Given the description of an element on the screen output the (x, y) to click on. 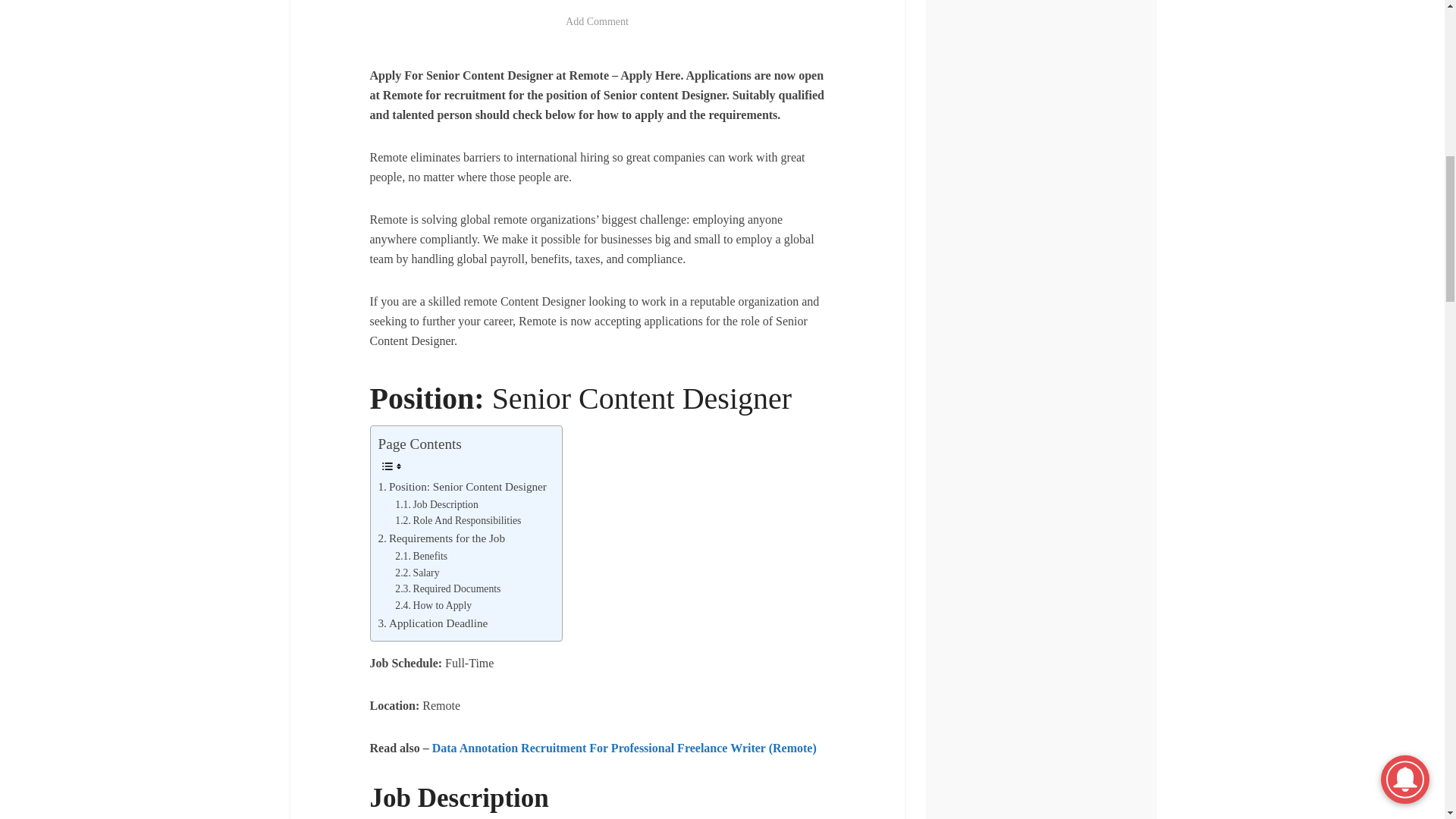
Add Comment (597, 21)
Application Deadline (432, 623)
Job Description (435, 504)
Application Deadline (441, 538)
Requirements for the Job (435, 504)
How to Apply (432, 623)
Benefits (441, 538)
Required Documents (432, 605)
Required Documents (420, 556)
Salary (447, 588)
Role And Responsibilities (447, 588)
Role And Responsibilities (416, 573)
Benefits (457, 520)
